Given the description of an element on the screen output the (x, y) to click on. 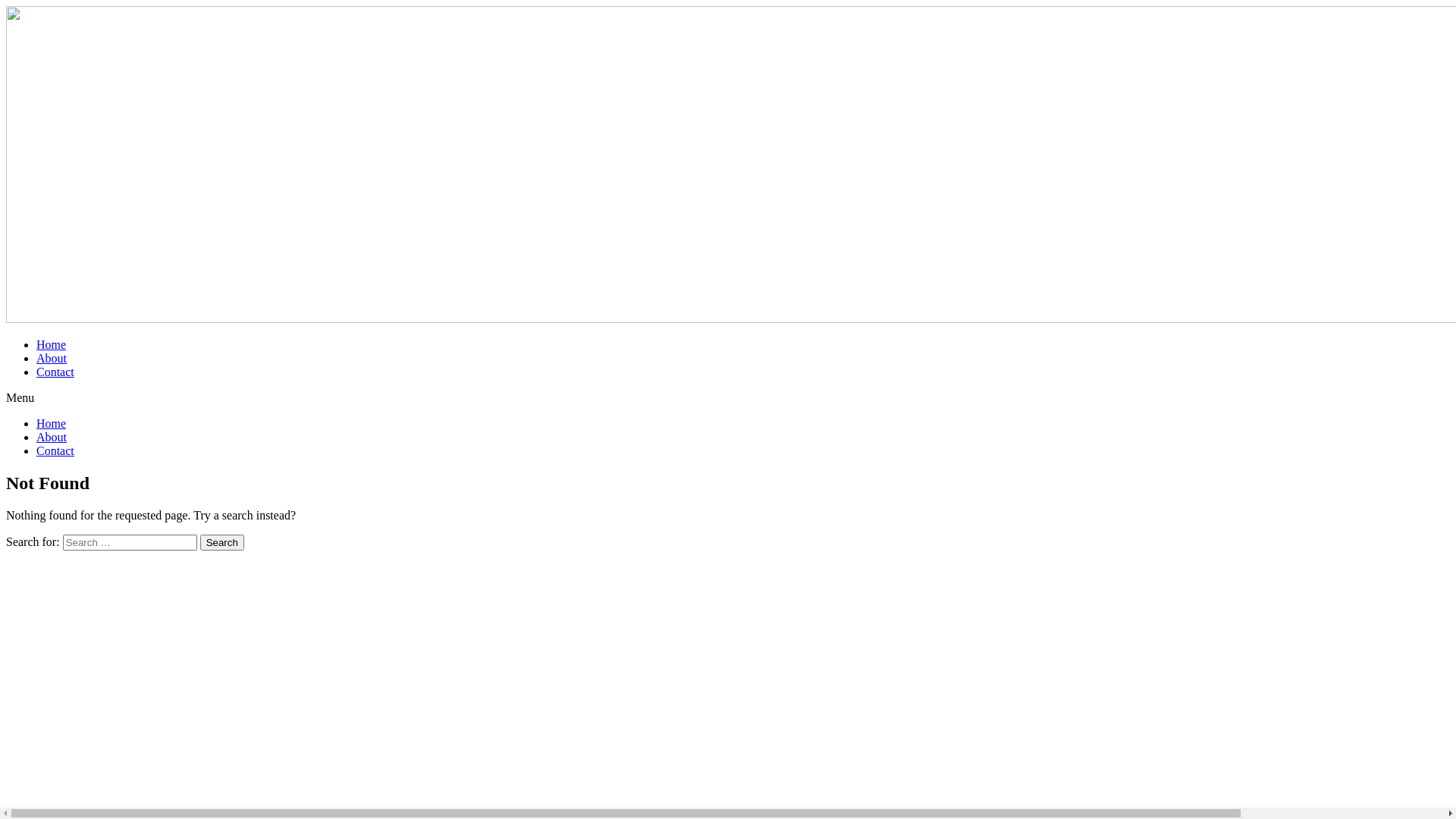
Contact Element type: text (55, 371)
About Element type: text (51, 436)
Search Element type: text (222, 542)
Contact Element type: text (55, 450)
About Element type: text (51, 357)
Home Element type: text (50, 423)
Home Element type: text (50, 344)
